Given the description of an element on the screen output the (x, y) to click on. 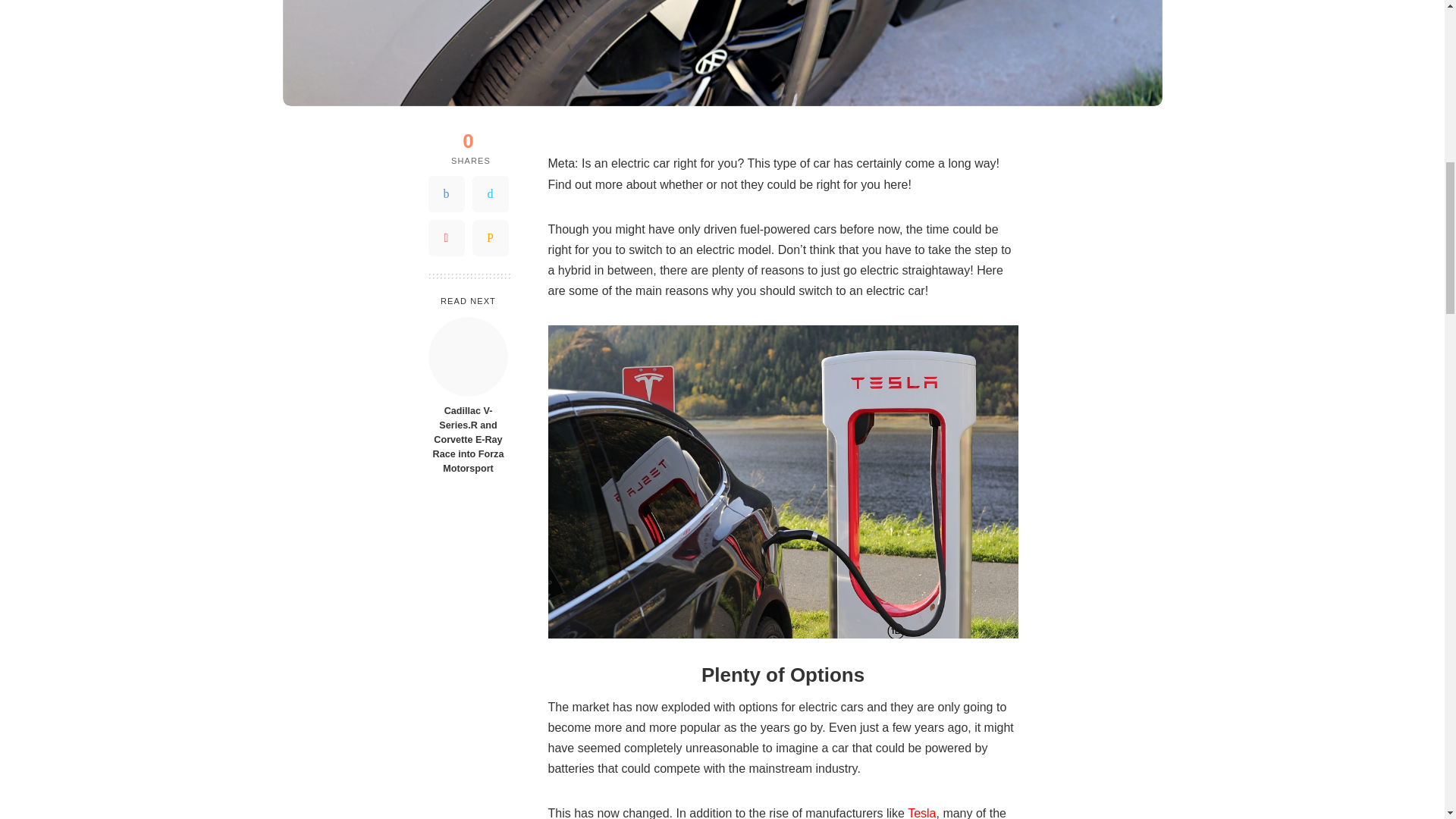
Pinterest (446, 238)
Twitter (489, 194)
Email (489, 238)
Facebook (446, 194)
